Given the description of an element on the screen output the (x, y) to click on. 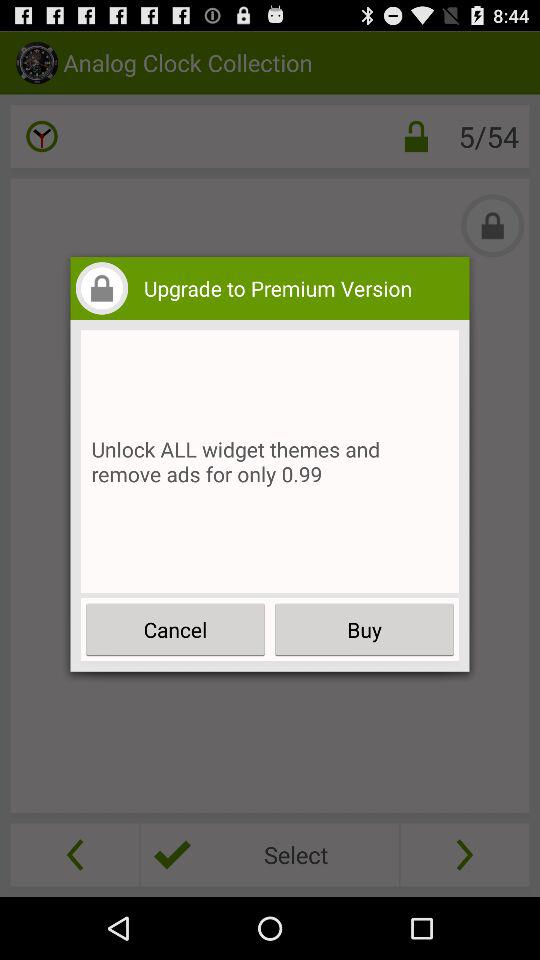
turn off button on the left (175, 629)
